Given the description of an element on the screen output the (x, y) to click on. 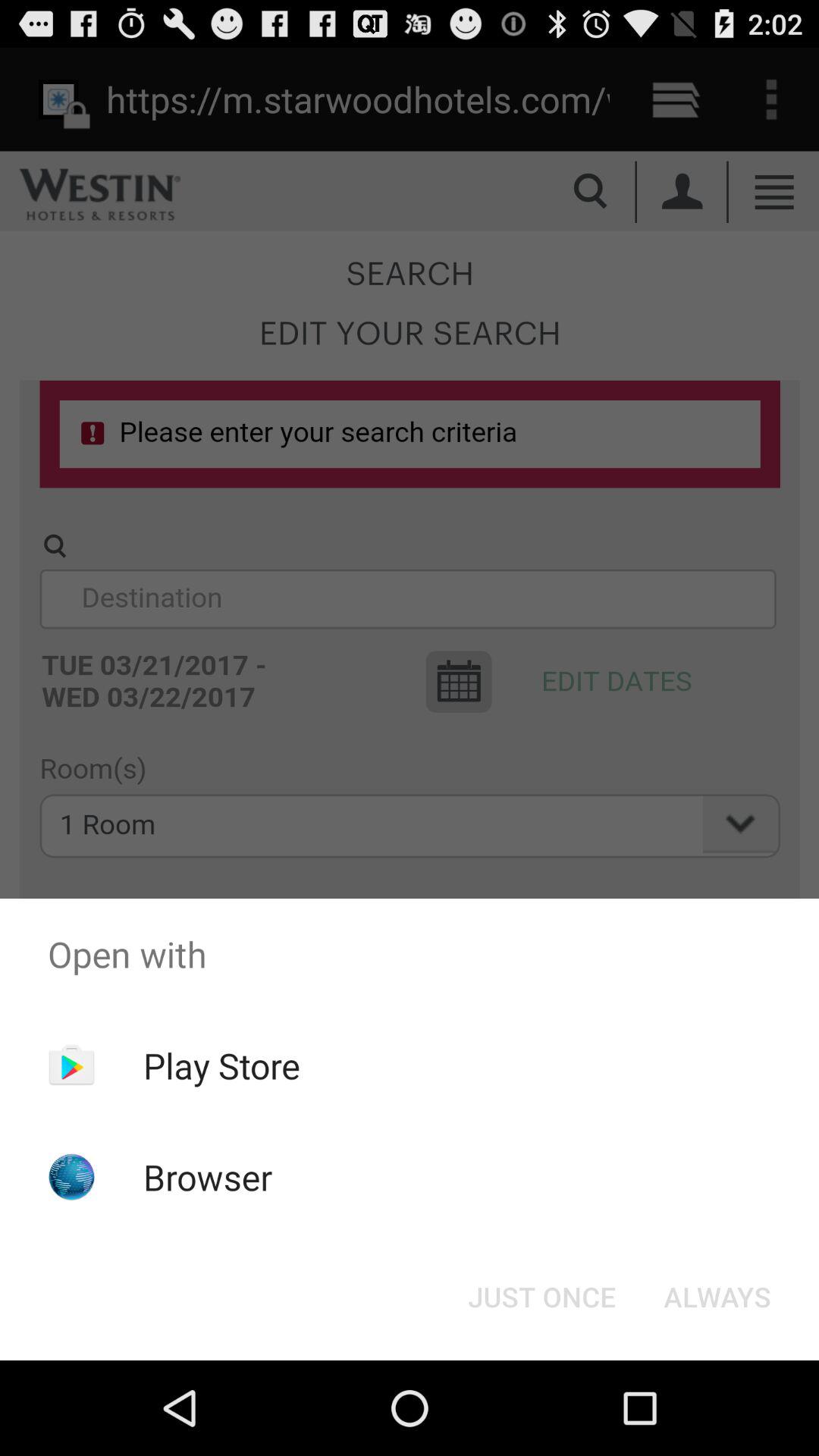
click just once button (541, 1296)
